Given the description of an element on the screen output the (x, y) to click on. 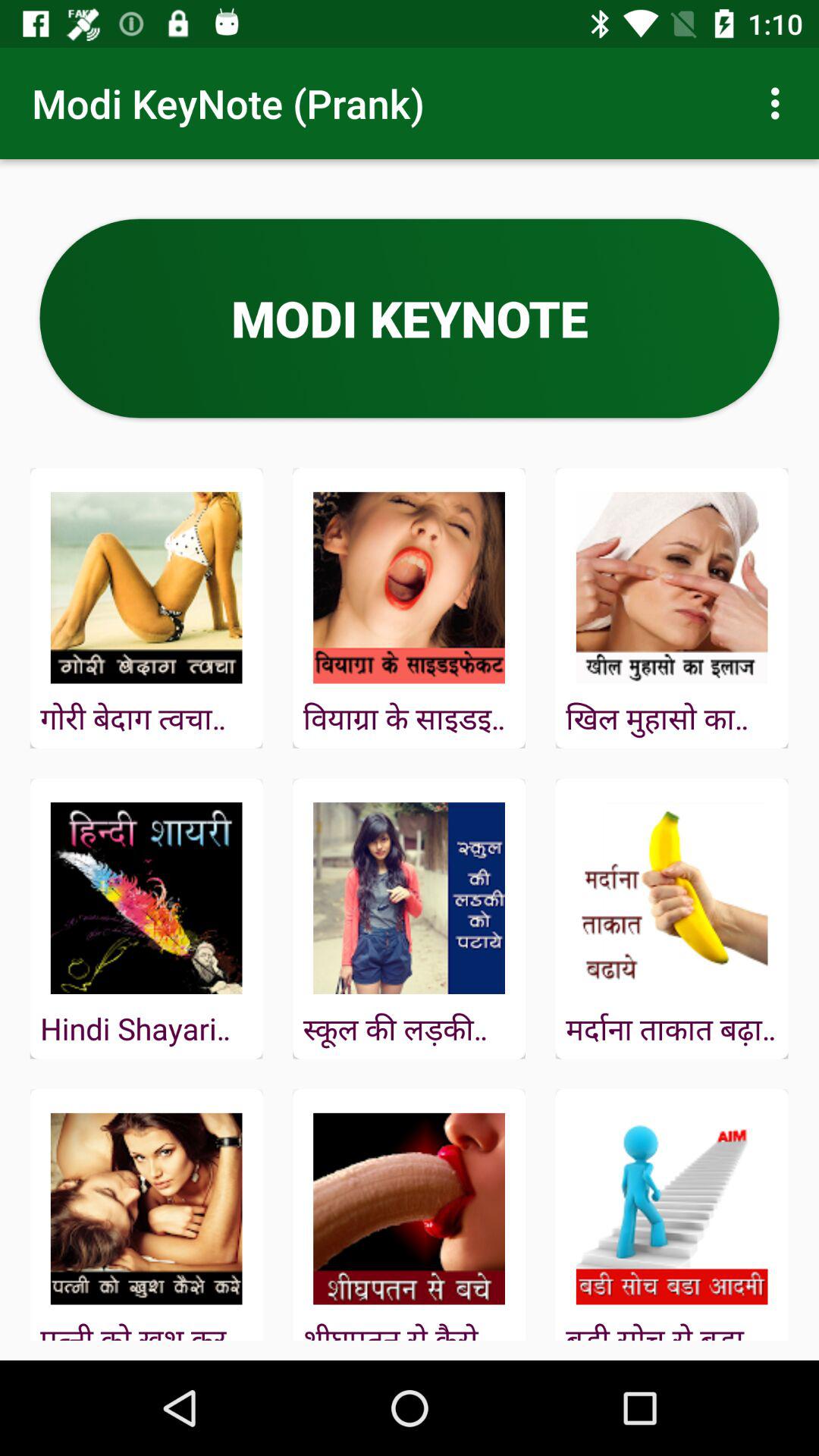
turn off the item to the right of modi keynote (prank) app (779, 103)
